Given the description of an element on the screen output the (x, y) to click on. 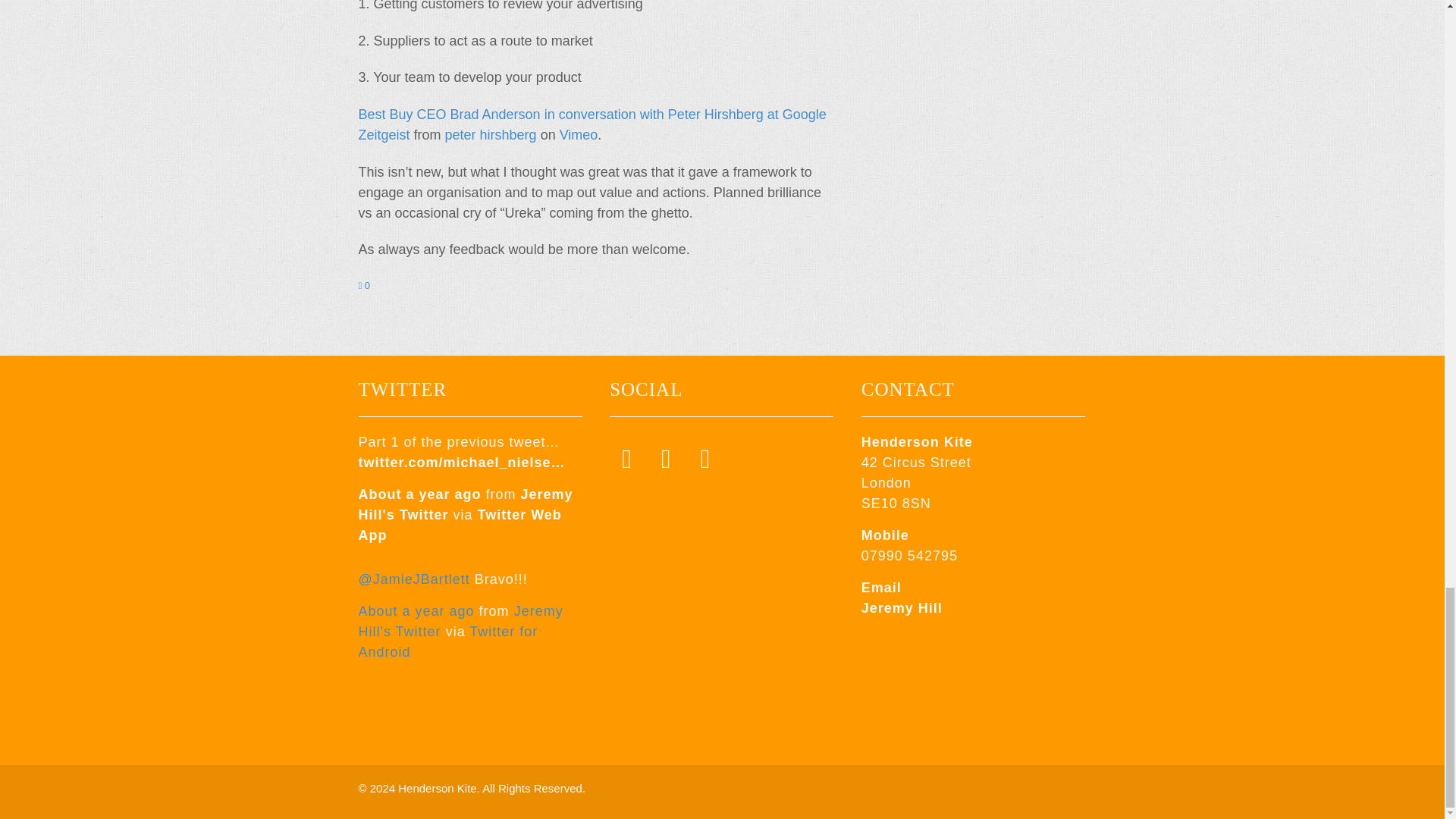
Vimeo (578, 134)
peter hirshberg (491, 134)
0 (363, 285)
